Given the description of an element on the screen output the (x, y) to click on. 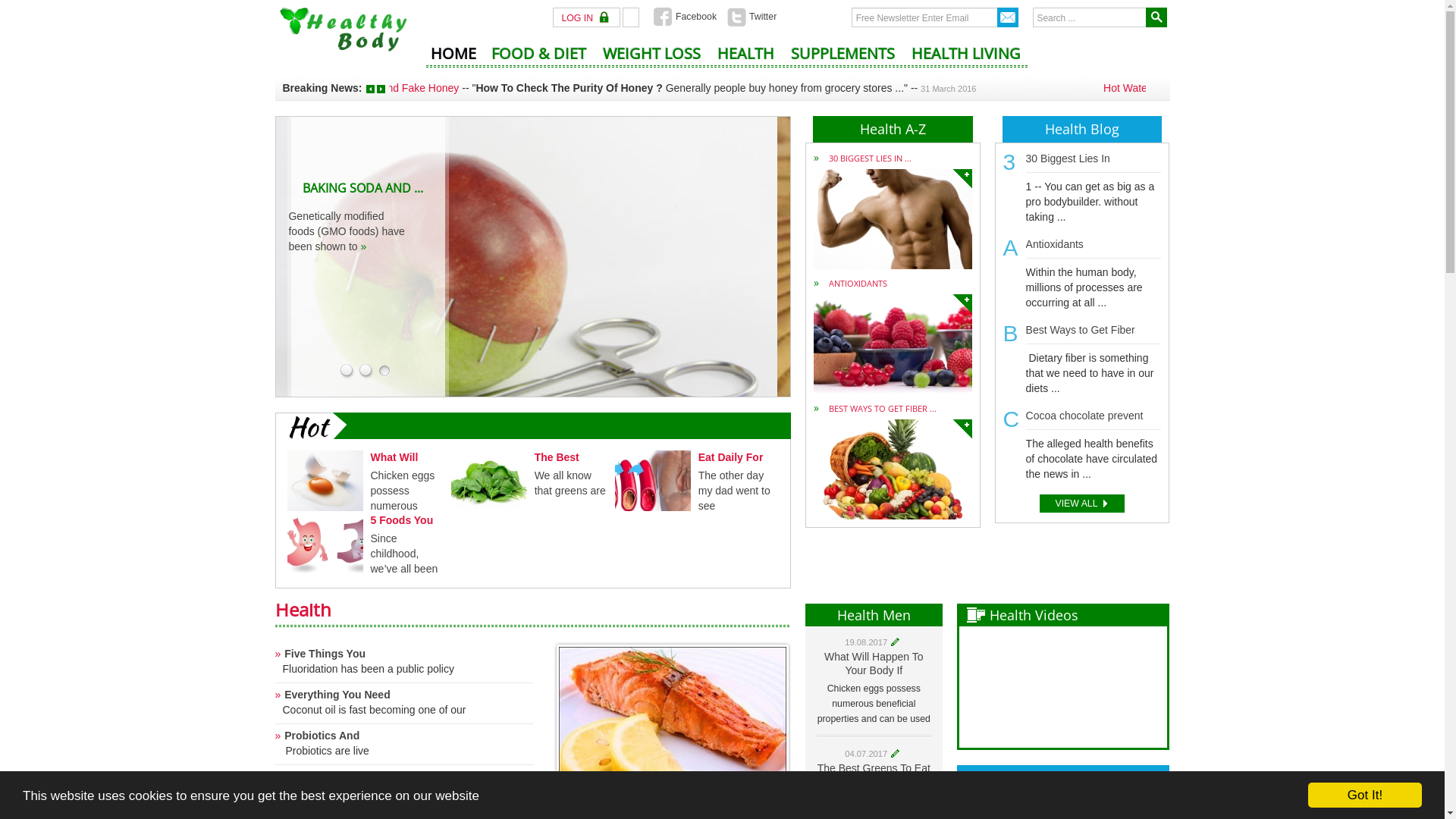
SUPPLEMENTS Element type: text (842, 58)
HEALTH Element type: text (745, 58)
The Best Greens To Eat Element type: hover (489, 480)
The Best Greens To Eat Element type: hover (489, 479)
HEALTH LIVING Element type: text (965, 58)
Got It! Element type: text (1364, 794)
Best Ways to Get Fiber in your Diet Element type: hover (892, 469)
Antioxidants Element type: hover (962, 303)
5 Foods You Element type: text (401, 520)
30 Biggest Lies In Bodybuilding Element type: hover (962, 178)
The Best Greens To Eat Element type: text (873, 768)
Antioxidants Element type: text (1054, 244)
5 Foods You Should NEVER Eat On An Empty Stomach! Element type: hover (324, 543)
LOG IN Element type: text (586, 17)
Food As Anti Ageing Element type: text (331, 776)
30 Biggest Lies In Element type: text (1068, 158)
Best Ways to Get Fiber Element type: text (1080, 329)
Health Benefits of Dates Element type: text (446, 87)
Cocoa chocolate prevent Element type: text (1084, 415)
BEST WAYS TO GET FIBER ... Element type: text (882, 408)
ANTIOXIDANTS Element type: text (857, 282)
Twitter Element type: text (751, 16)
Antioxidants Element type: hover (892, 344)
5 Foods You Should NEVER Eat On An Empty Stomach! Element type: hover (324, 542)
Best Ways to Get Fiber in your Diet Element type: hover (962, 428)
The Best Element type: text (556, 457)
Search Element type: text (1155, 17)
Health Element type: text (302, 609)
Healthy body Element type: hover (342, 28)
WEIGHT LOSS Element type: text (651, 58)
Eat Daily For Element type: text (730, 457)
Probiotics And Element type: text (316, 735)
What Will Happen To Your Body If Element type: text (873, 663)
Send Element type: text (1007, 17)
VIEW ALL Element type: text (1081, 503)
Facebook Element type: text (684, 16)
HOME Element type: text (453, 58)
What Will Element type: text (393, 457)
 Eat Daily For Clean Arteries  Element type: hover (652, 480)
Everything You Need Element type: text (331, 694)
30 BIGGEST LIES IN ... Element type: text (869, 157)
30 Biggest Lies In Bodybuilding Element type: hover (892, 219)
Five Things You Element type: text (319, 653)
FOOD & DIET Element type: text (538, 58)
 Eat Daily For Clean Arteries  Element type: hover (652, 479)
